Given the description of an element on the screen output the (x, y) to click on. 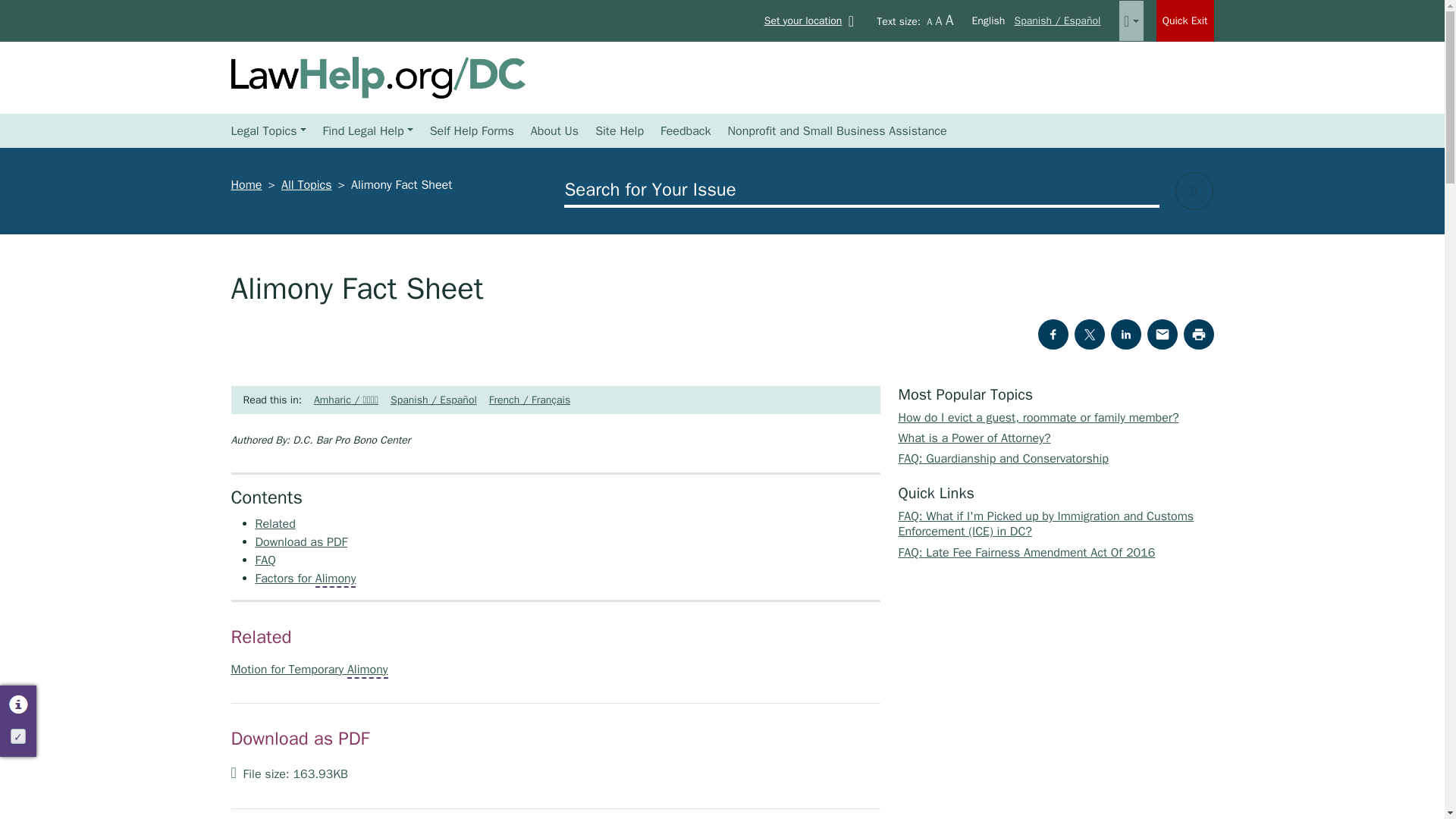
Quick Exit (1184, 20)
Legal Topics (267, 130)
Set your location (812, 20)
Set your location (812, 20)
